Given the description of an element on the screen output the (x, y) to click on. 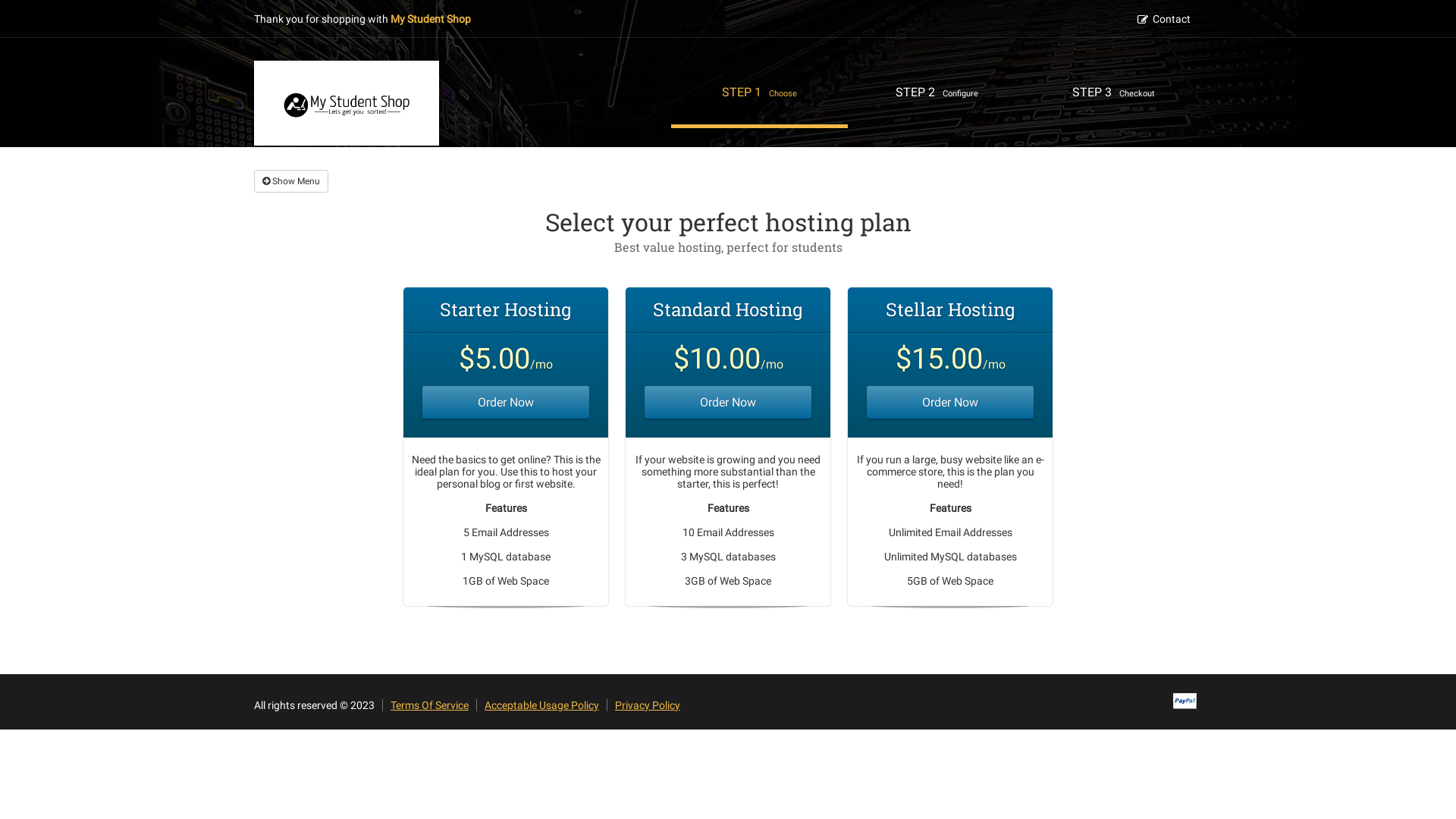
Order Now Element type: text (505, 401)
Order Now Element type: text (949, 401)
Order Now Element type: text (727, 401)
Privacy Policy Element type: text (646, 705)
Acceptable Usage Policy Element type: text (541, 705)
Terms Of Service Element type: text (429, 705)
Contact Element type: text (1168, 18)
Show Menu Element type: text (291, 180)
